Given the description of an element on the screen output the (x, y) to click on. 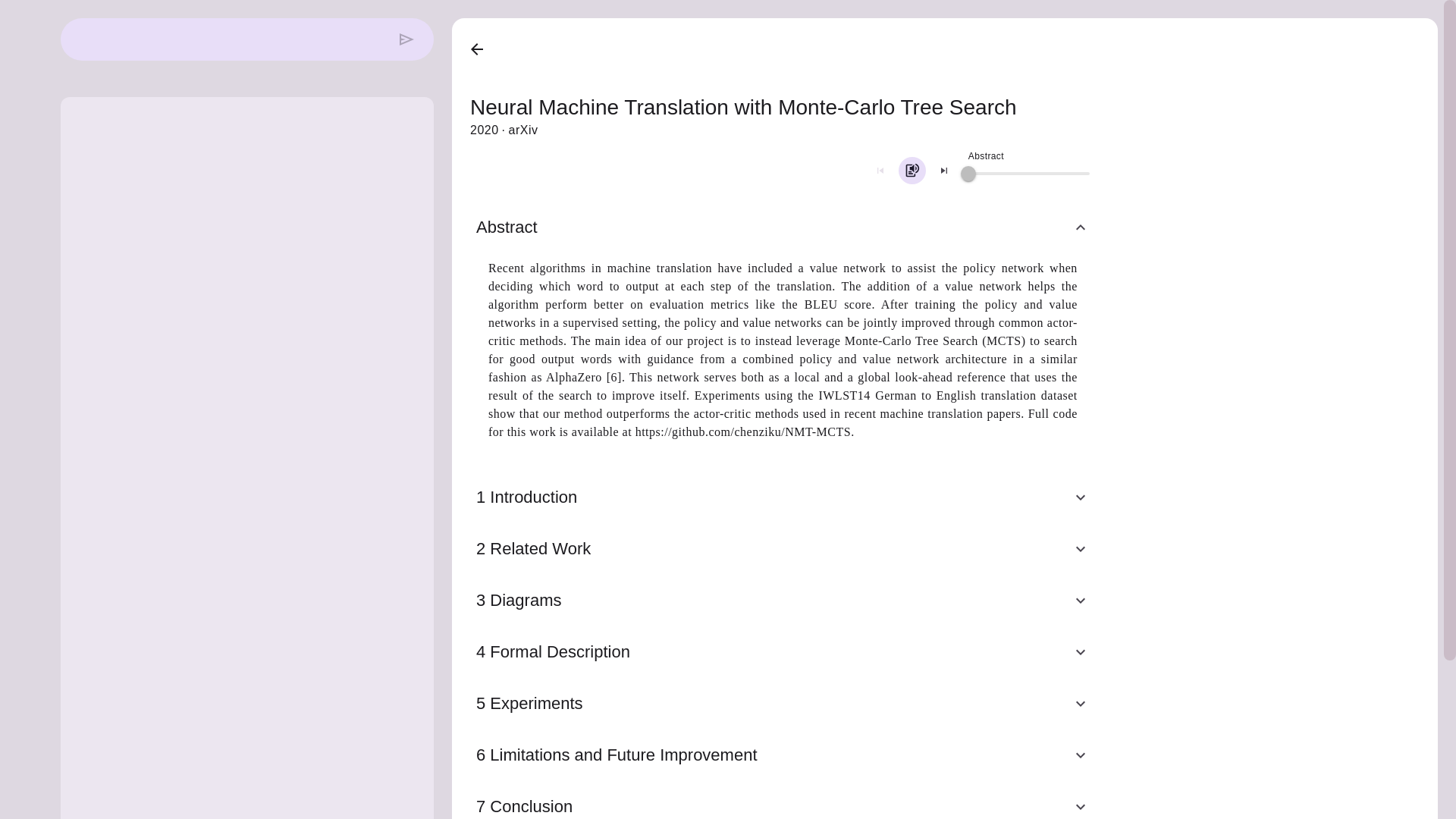
Listen aloud (912, 170)
0 (967, 173)
